Given the description of an element on the screen output the (x, y) to click on. 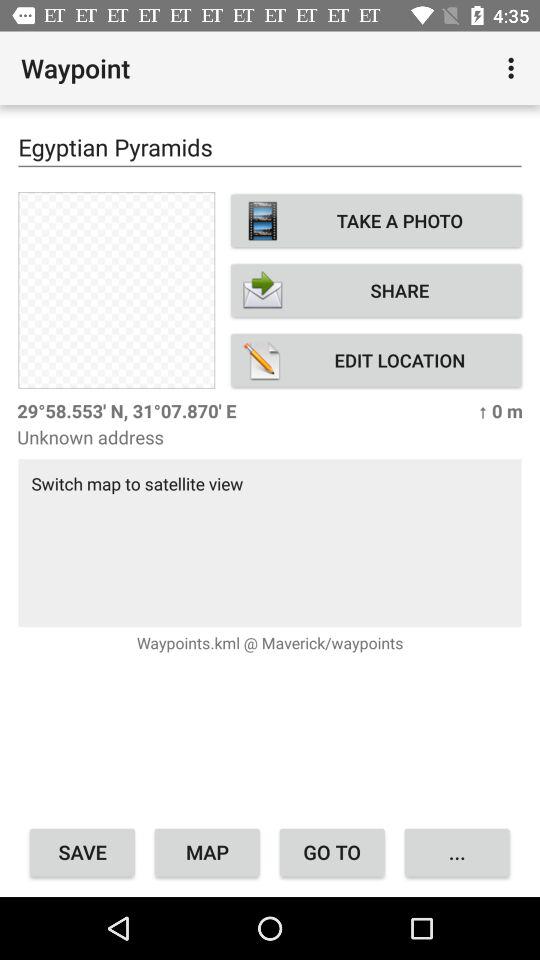
tap the icon to the right of the map icon (331, 851)
